Given the description of an element on the screen output the (x, y) to click on. 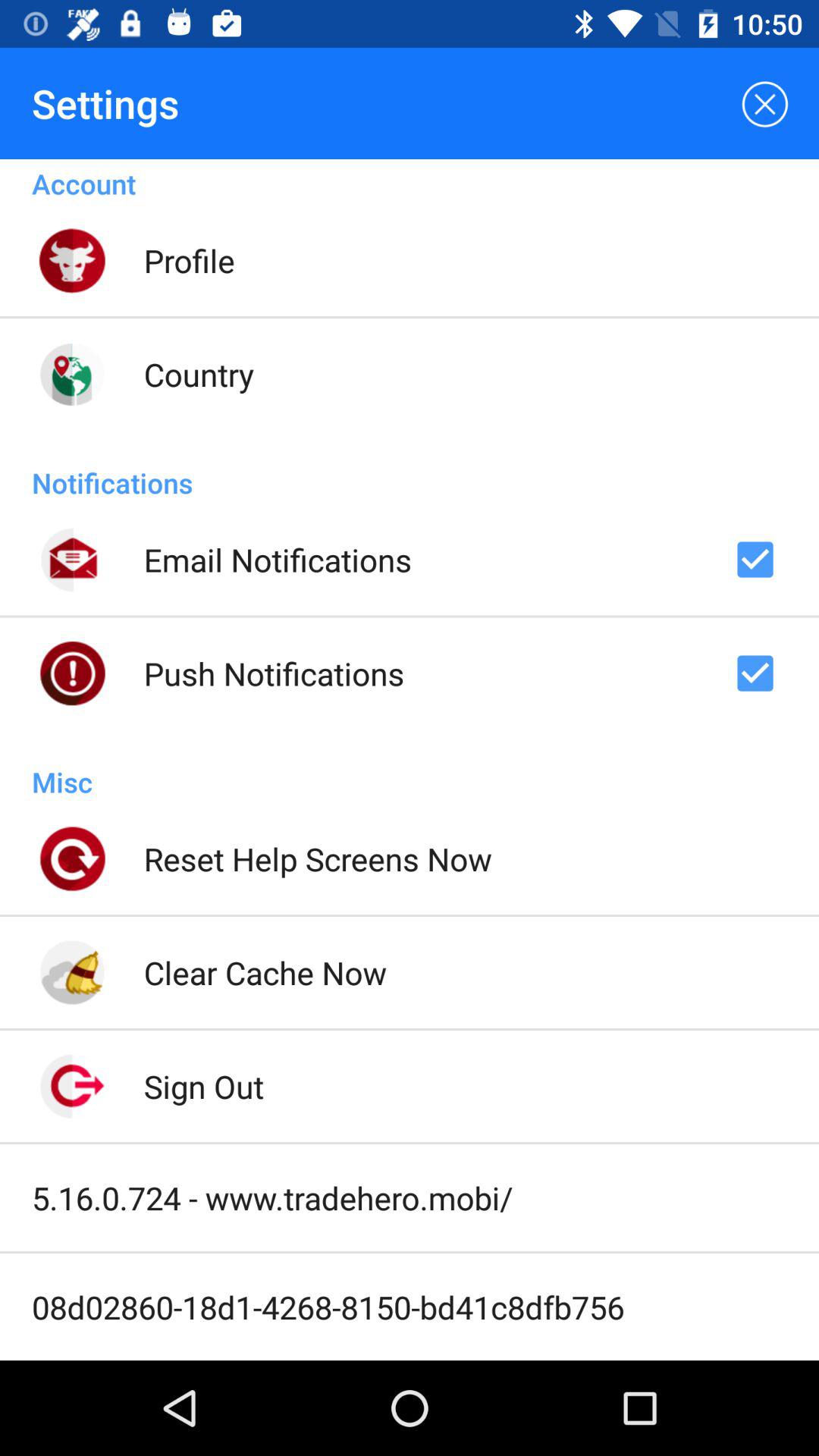
flip to email notifications item (277, 559)
